Given the description of an element on the screen output the (x, y) to click on. 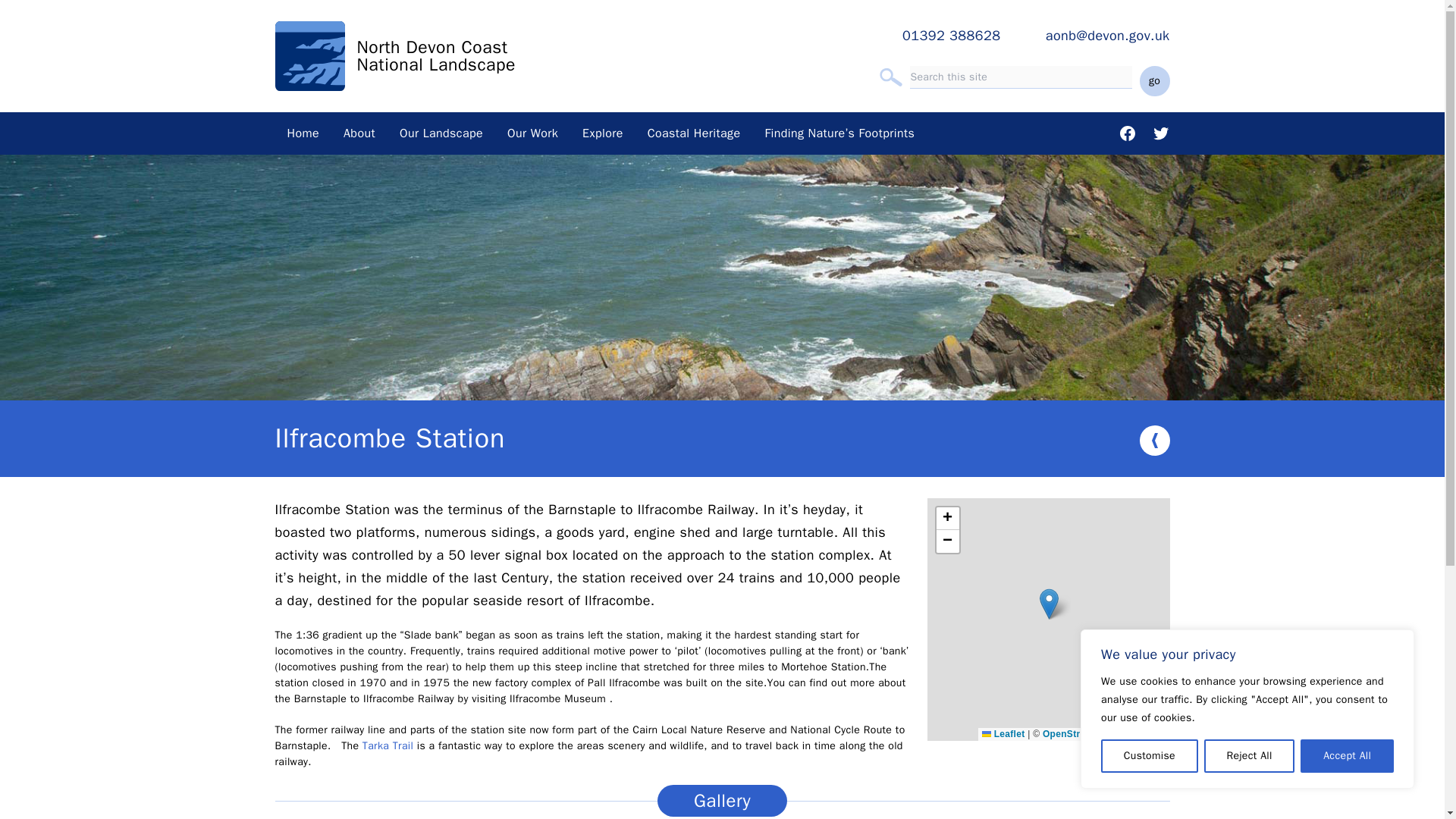
go (1153, 81)
Home (303, 133)
Customise (1149, 756)
Our Work (532, 133)
Tarka Trail (387, 745)
About (359, 133)
Zoom out (947, 540)
North Devon Coast (431, 47)
Zoom in (947, 517)
A JavaScript library for interactive maps (1003, 733)
